Given the description of an element on the screen output the (x, y) to click on. 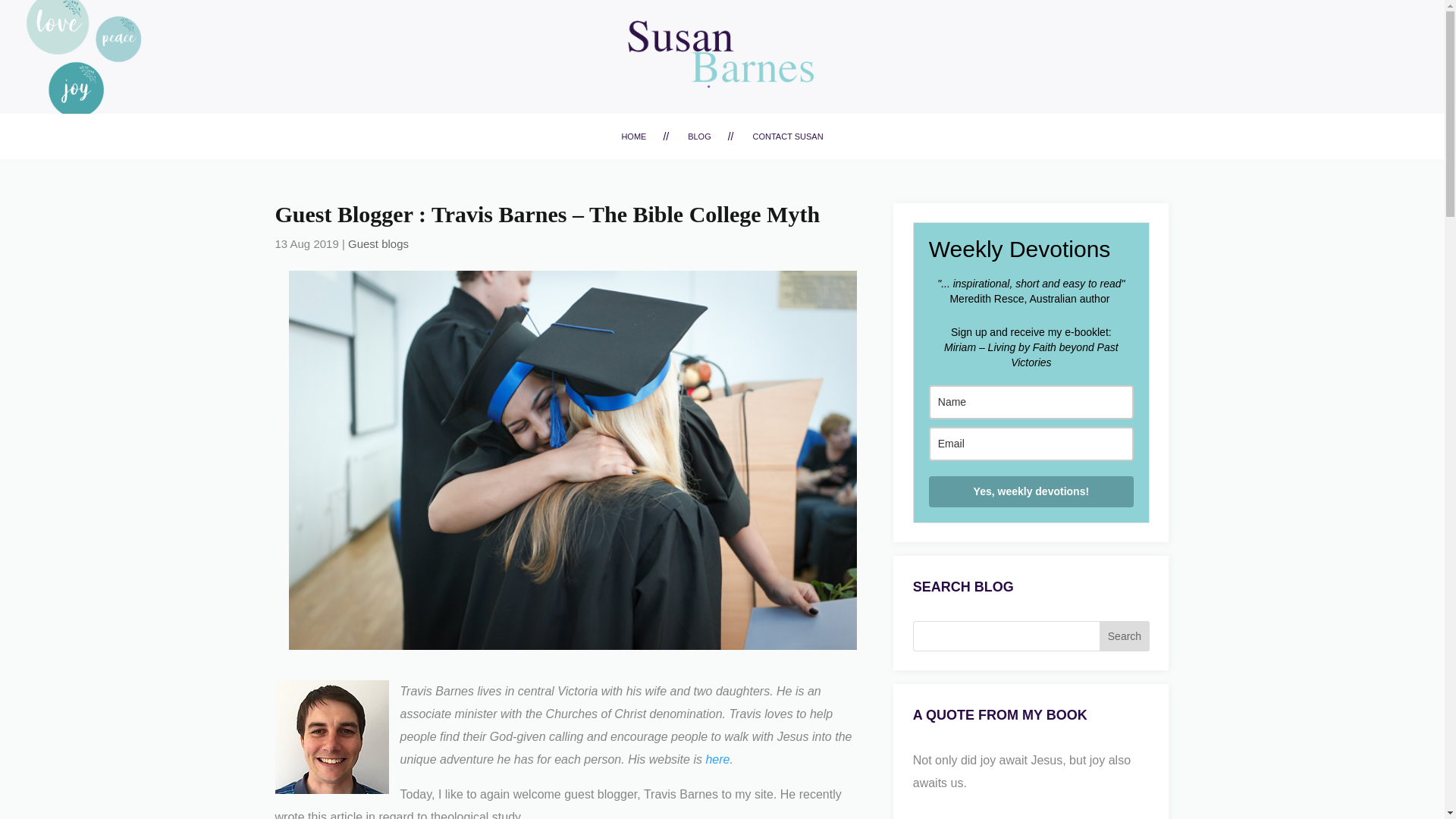
CONTACT SUSAN (788, 138)
here (716, 758)
Yes, weekly devotions! (1031, 490)
Guest blogs (378, 242)
BLOG (699, 138)
Search (1124, 635)
Search (1124, 635)
HOME (633, 138)
